Given the description of an element on the screen output the (x, y) to click on. 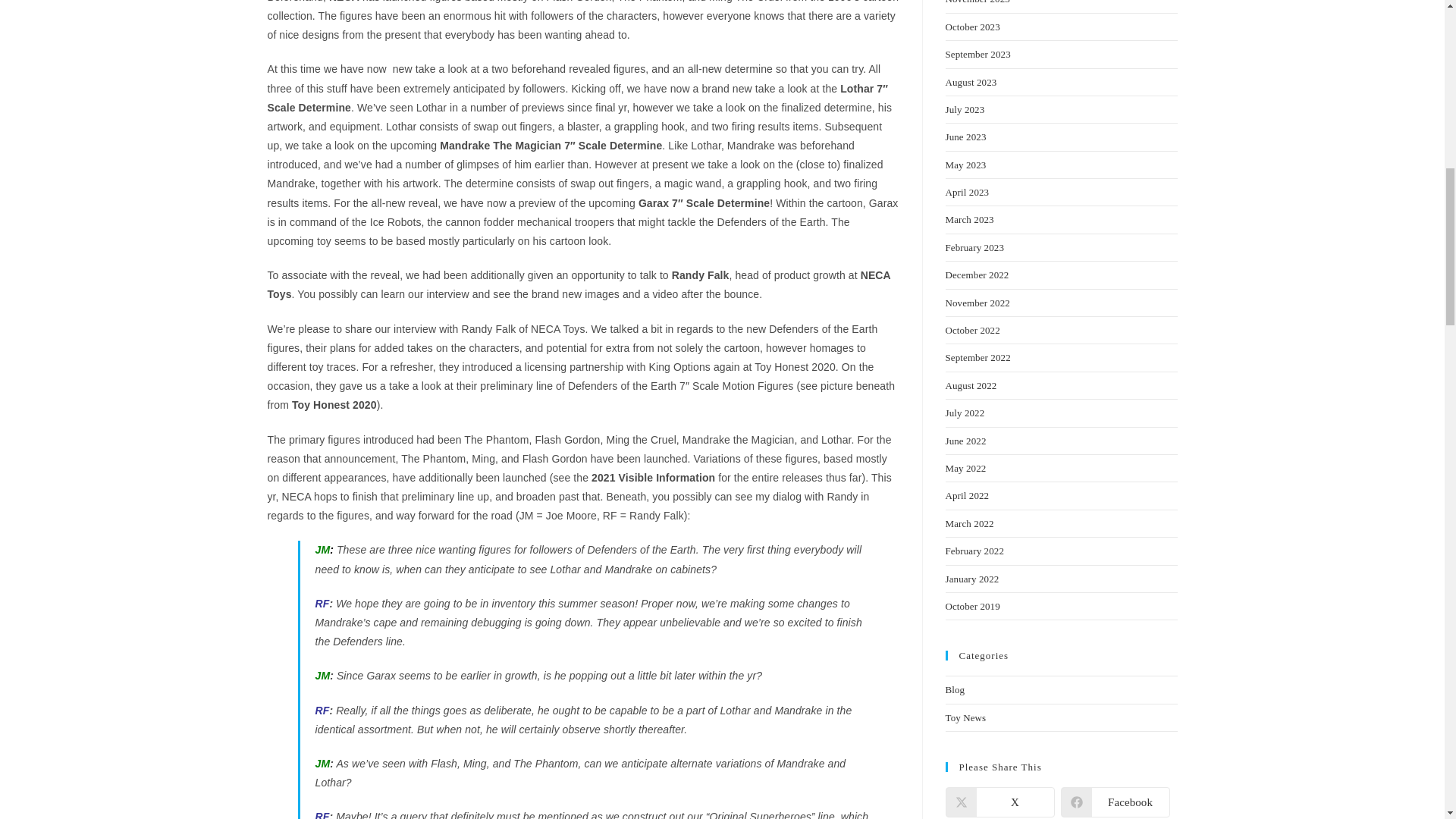
Share on X (999, 802)
Share on Facebook (1114, 802)
